Given the description of an element on the screen output the (x, y) to click on. 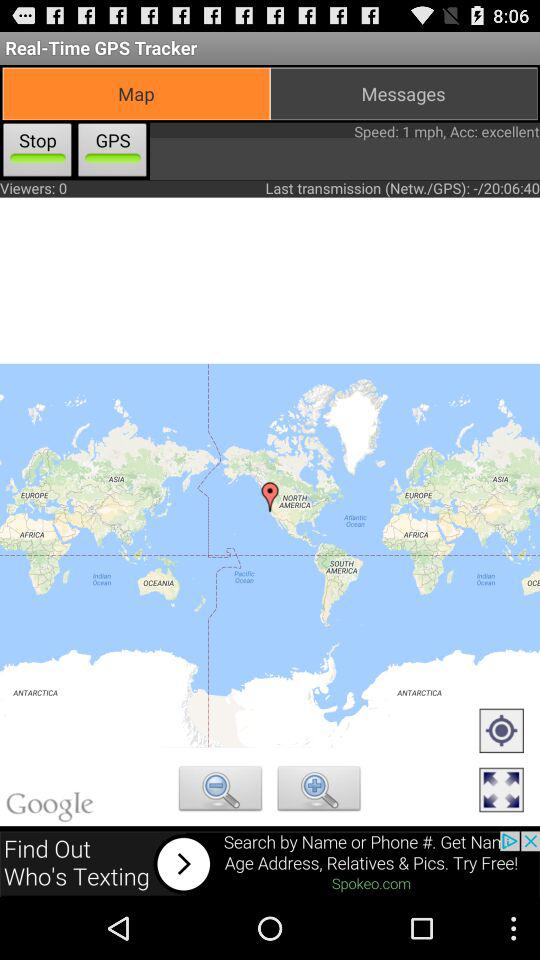
zoom (220, 791)
